Given the description of an element on the screen output the (x, y) to click on. 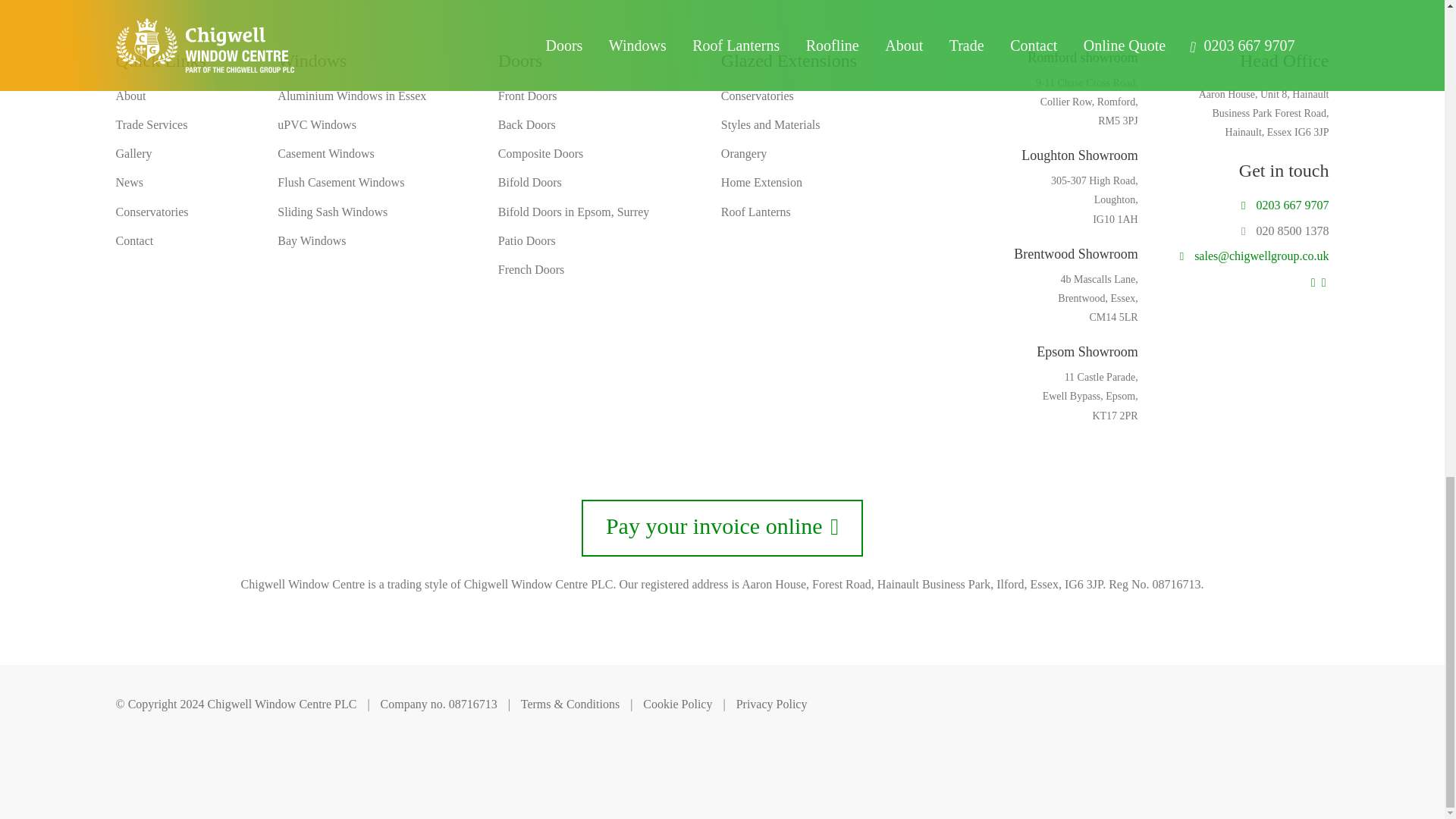
View the cookie policy (677, 703)
View the sites terms and conditions (570, 703)
View the privacy policy (772, 703)
